Given the description of an element on the screen output the (x, y) to click on. 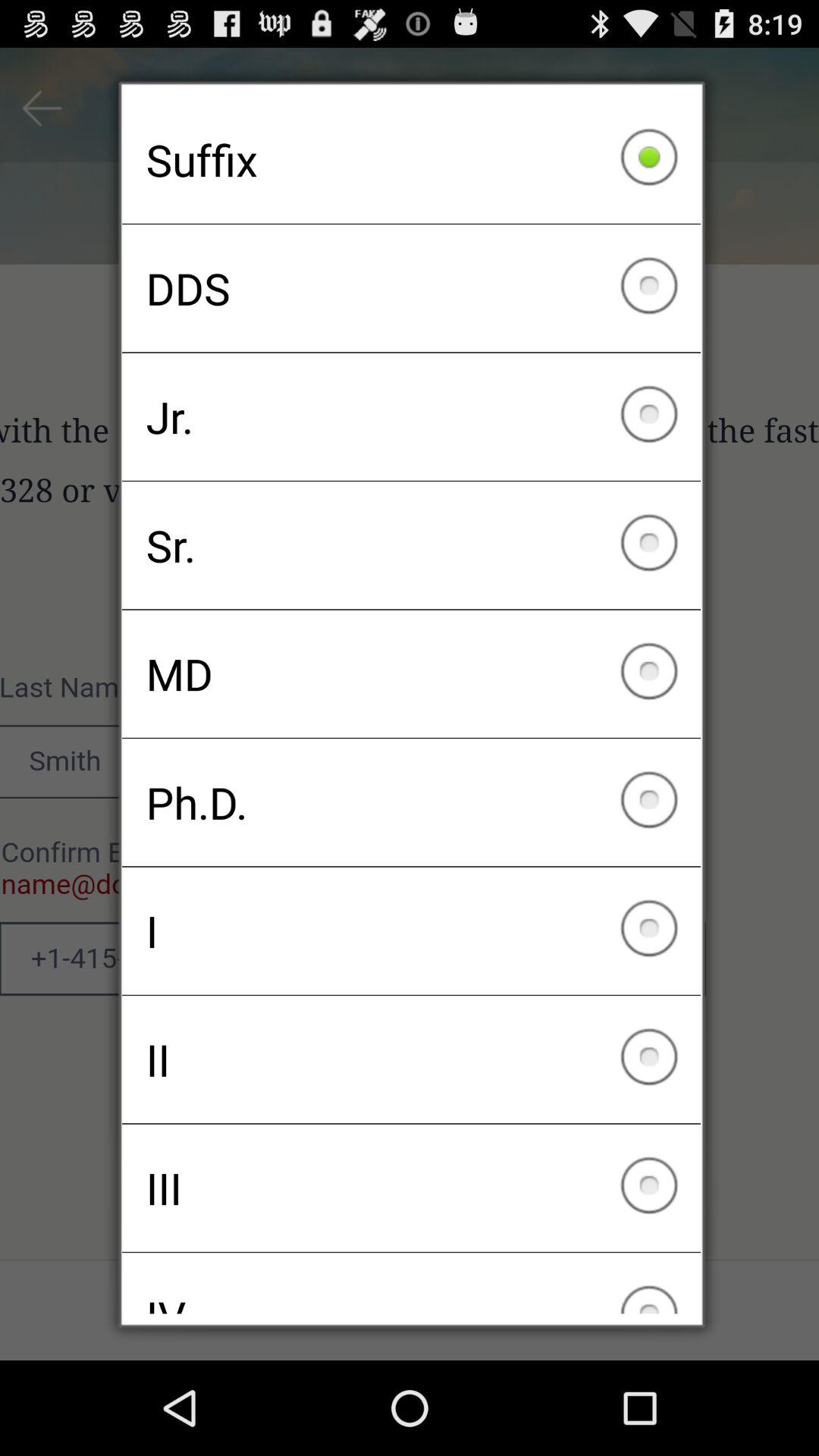
turn off the iv checkbox (411, 1282)
